Given the description of an element on the screen output the (x, y) to click on. 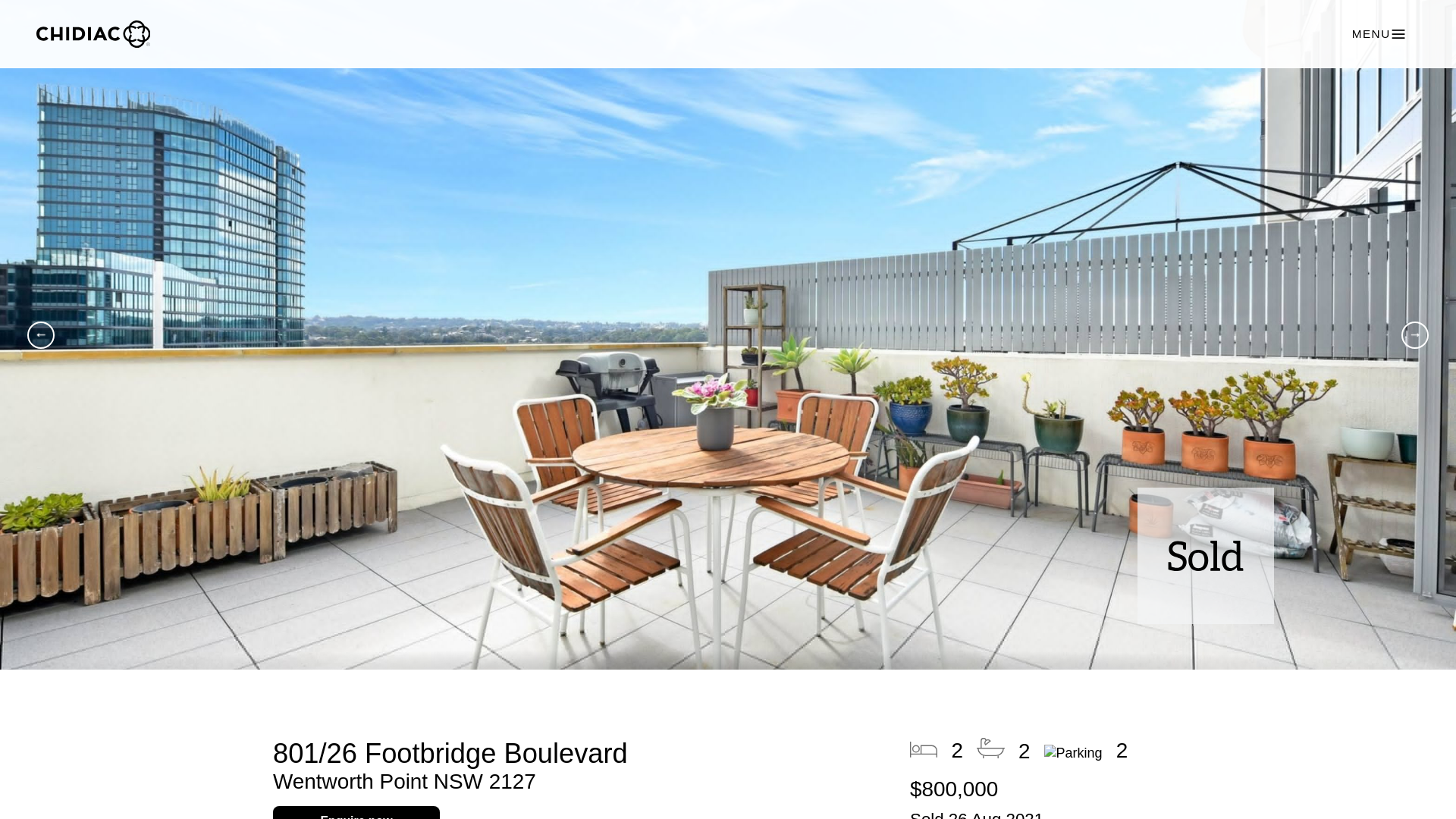
Enquire now (356, 812)
